Given the description of an element on the screen output the (x, y) to click on. 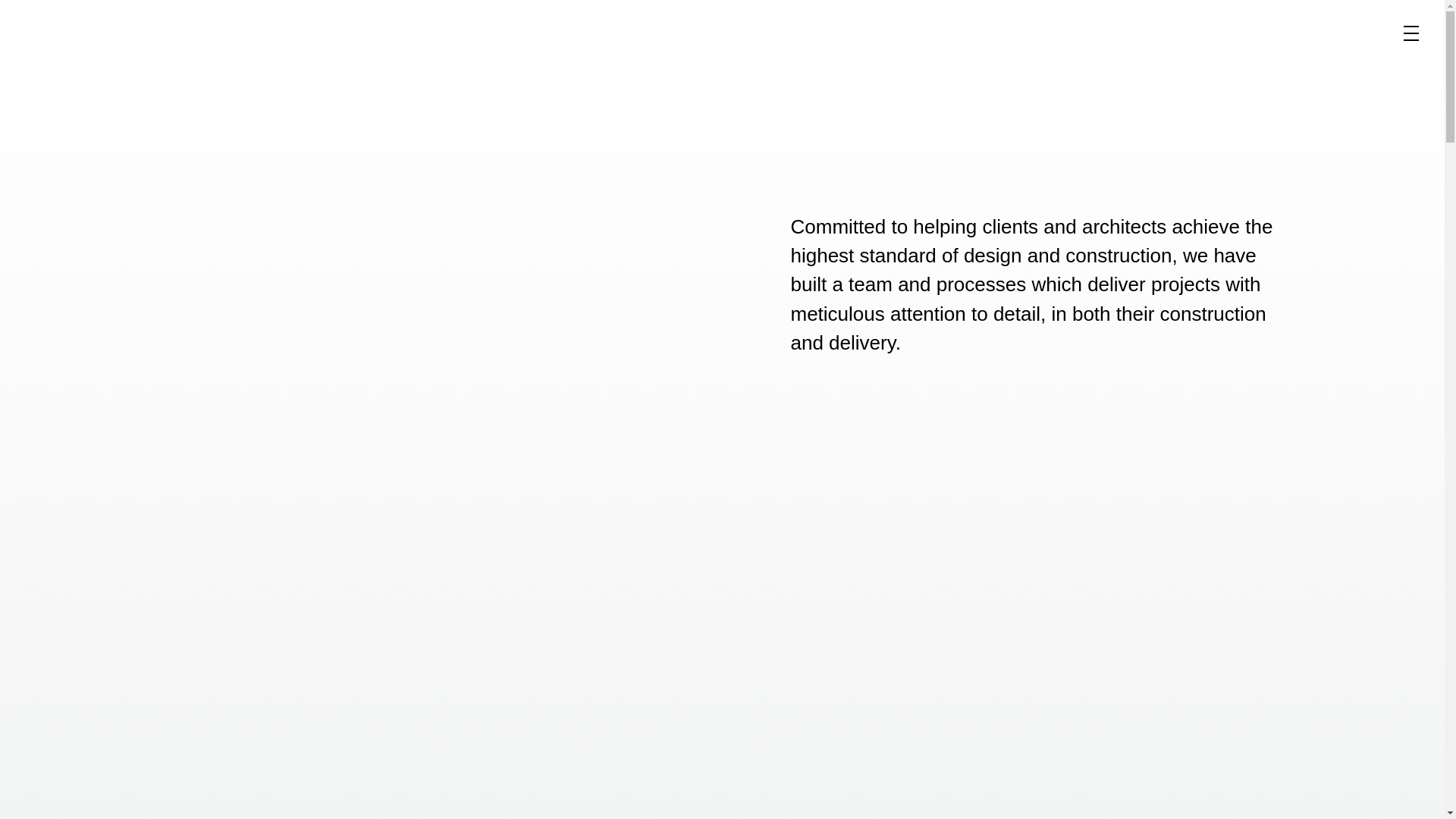
Back to home (32, 38)
